Given the description of an element on the screen output the (x, y) to click on. 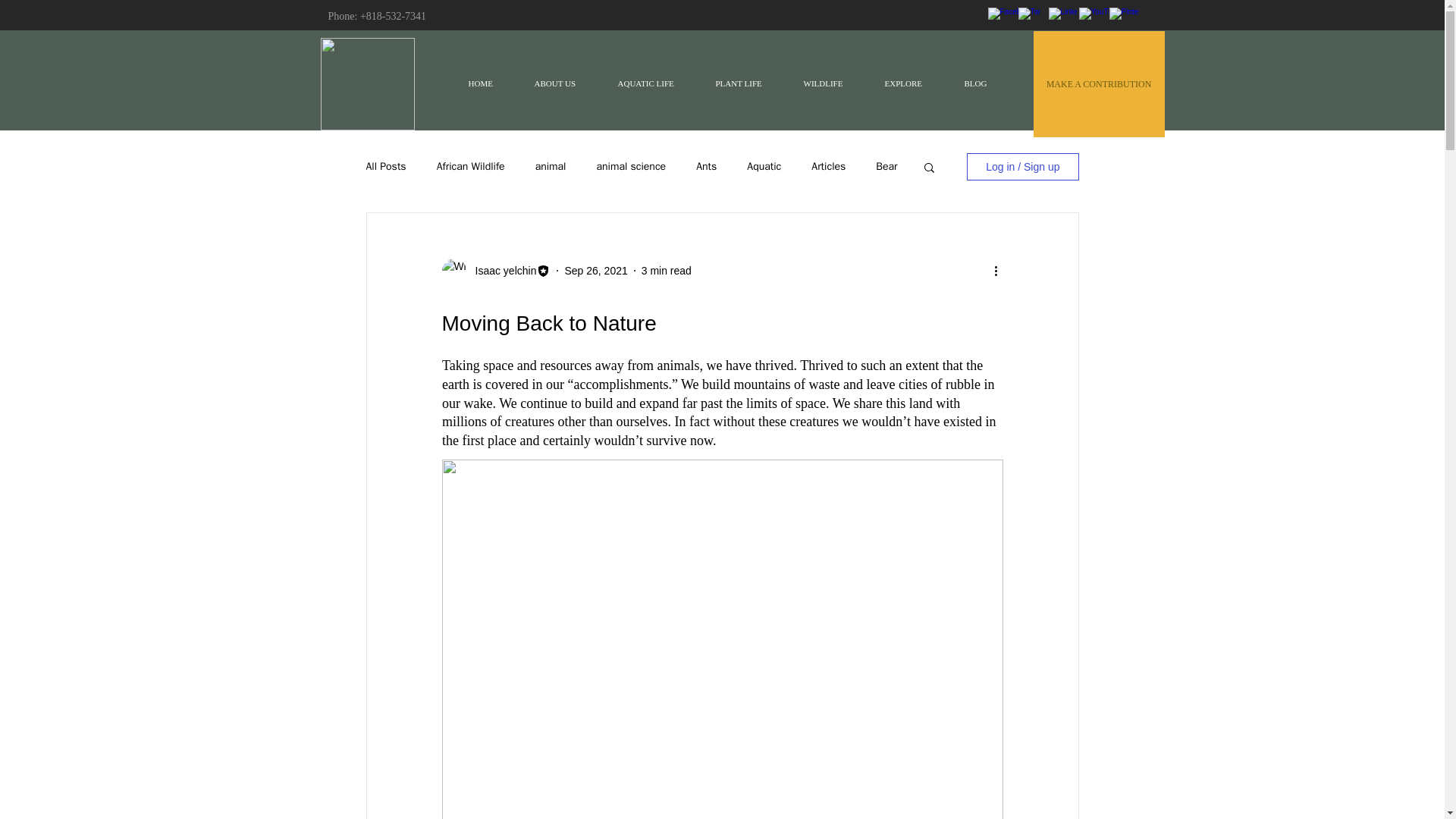
animal science (630, 166)
animal (550, 166)
Isaac yelchin (500, 270)
Ants (705, 166)
All Posts (385, 166)
Sep 26, 2021 (595, 269)
Aquatic (763, 166)
African Wildlife (470, 166)
Bear (886, 166)
3 min read (666, 269)
